Given the description of an element on the screen output the (x, y) to click on. 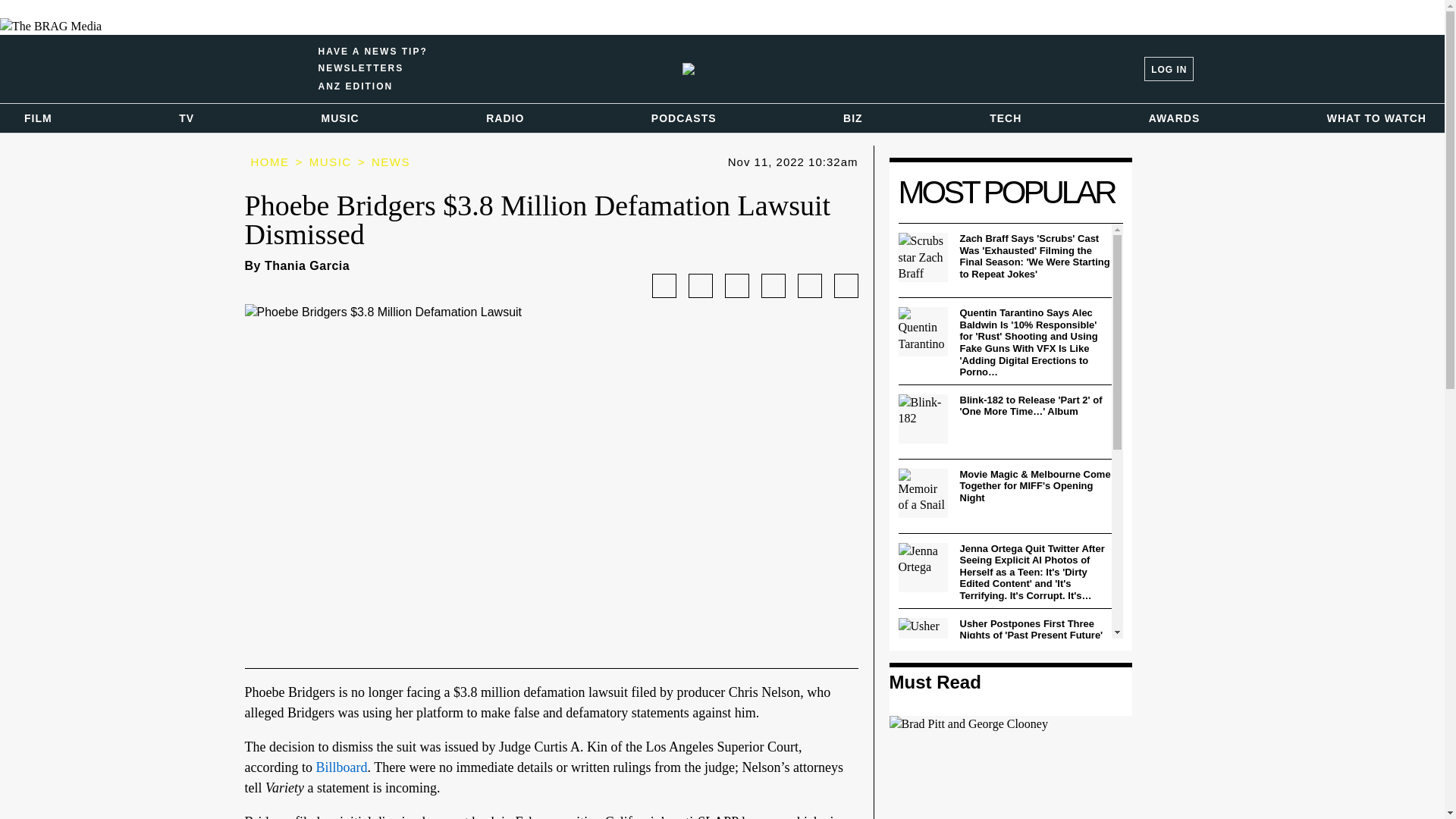
Variety (283, 68)
NEWSLETTERS (355, 85)
LOG IN (760, 69)
HAVE A NEWS TIP? (373, 67)
